Given the description of an element on the screen output the (x, y) to click on. 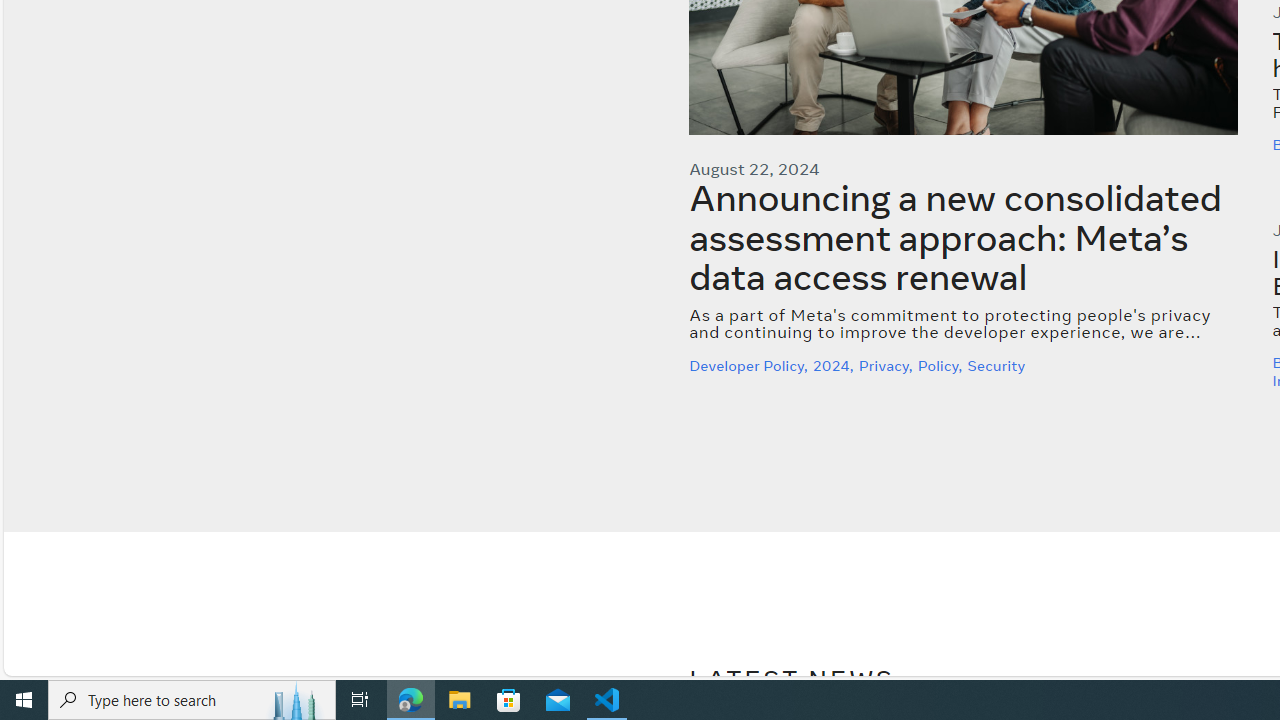
2024, (835, 365)
Developer Policy, (751, 365)
Privacy, (887, 365)
Policy, (941, 365)
Security (998, 365)
